Given the description of an element on the screen output the (x, y) to click on. 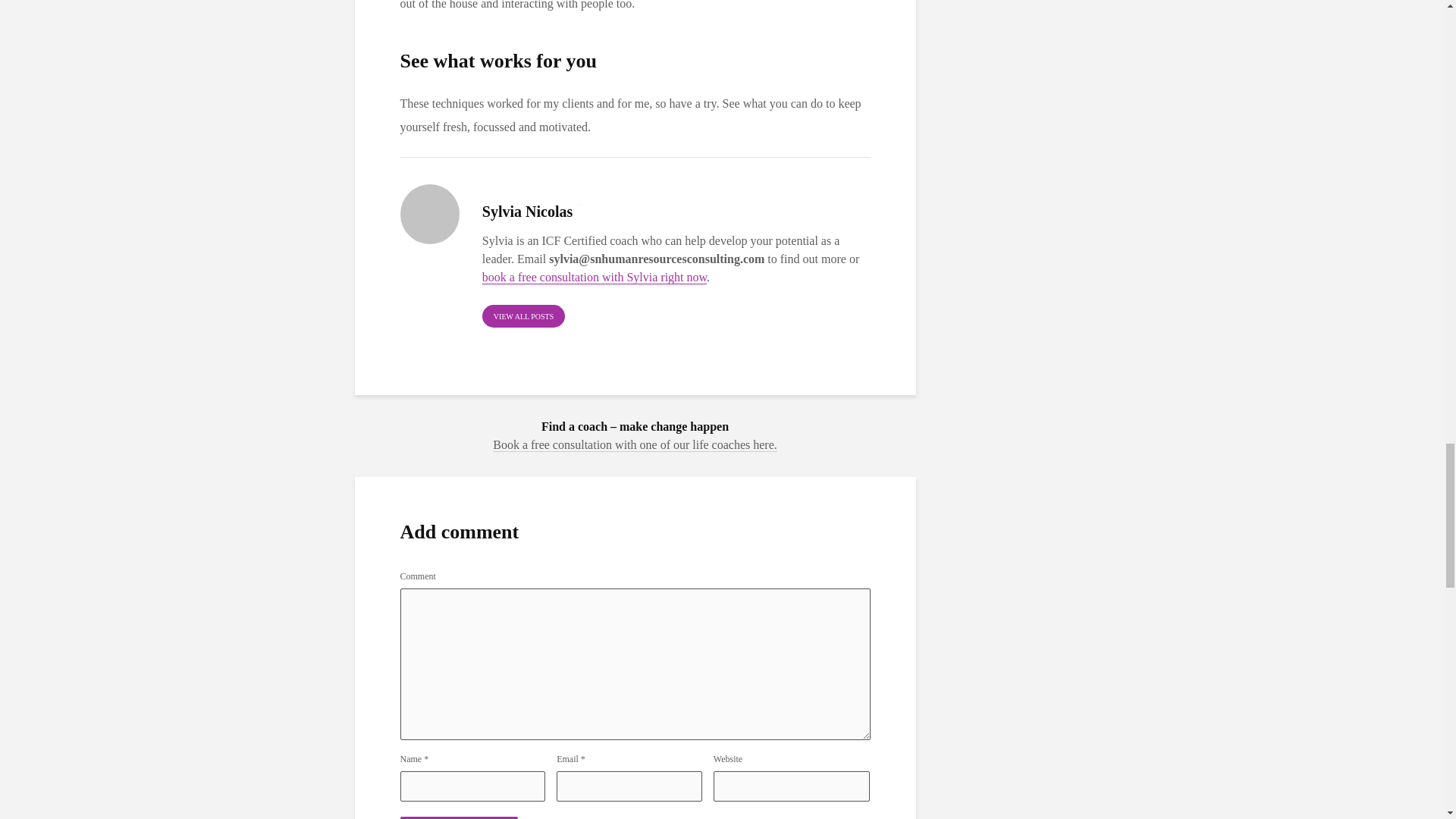
book a free consultation with Sylvia right now (593, 277)
VIEW ALL POSTS (522, 315)
Submit Comment (459, 817)
Submit Comment (459, 817)
Book a free consultation with one of our life coaches here. (635, 445)
